Given the description of an element on the screen output the (x, y) to click on. 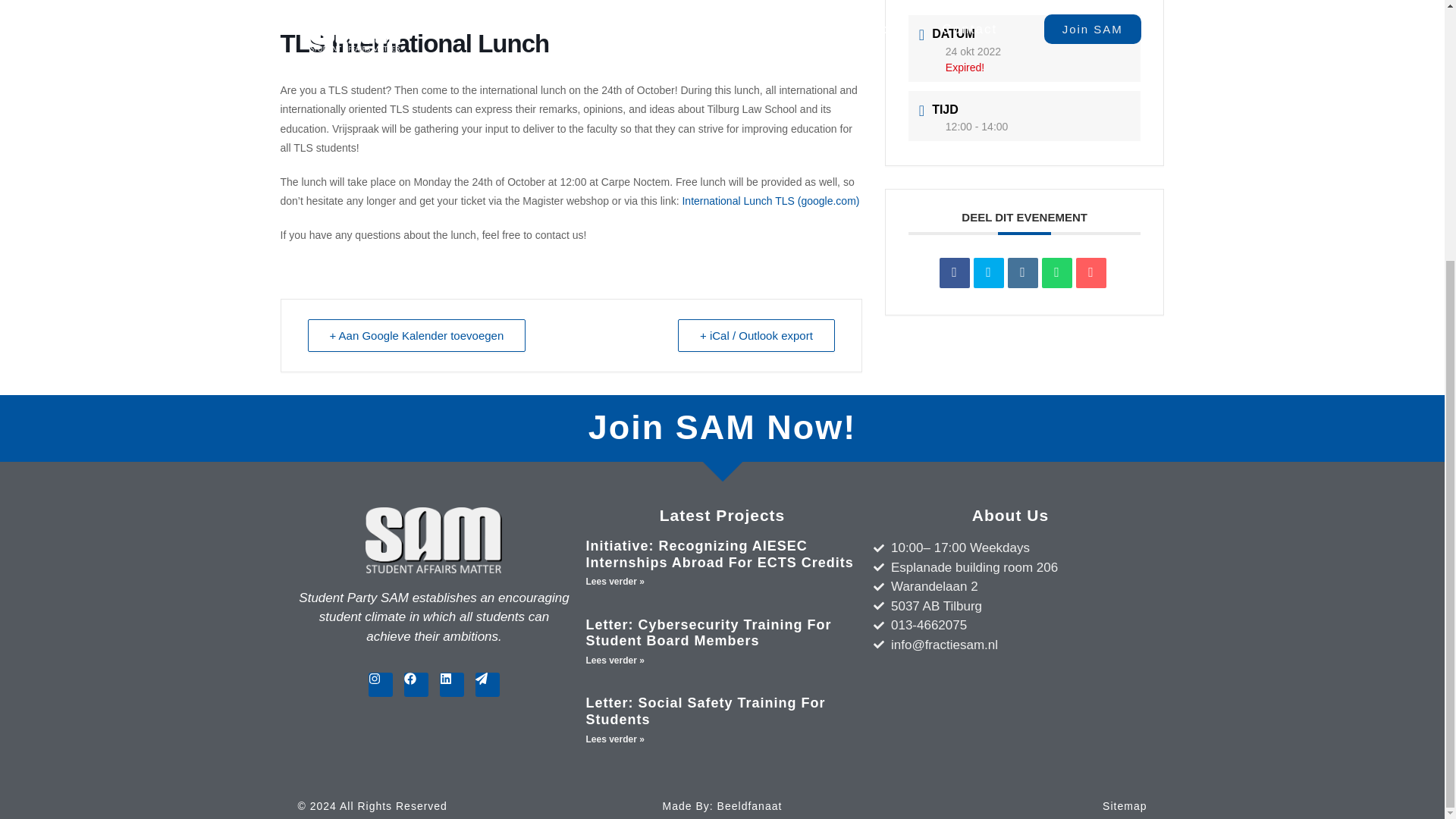
Share on WhatsApp (1056, 272)
Deel op Facebook (954, 272)
Tweet (989, 272)
Linkedin (1022, 272)
Email (1090, 272)
